Given the description of an element on the screen output the (x, y) to click on. 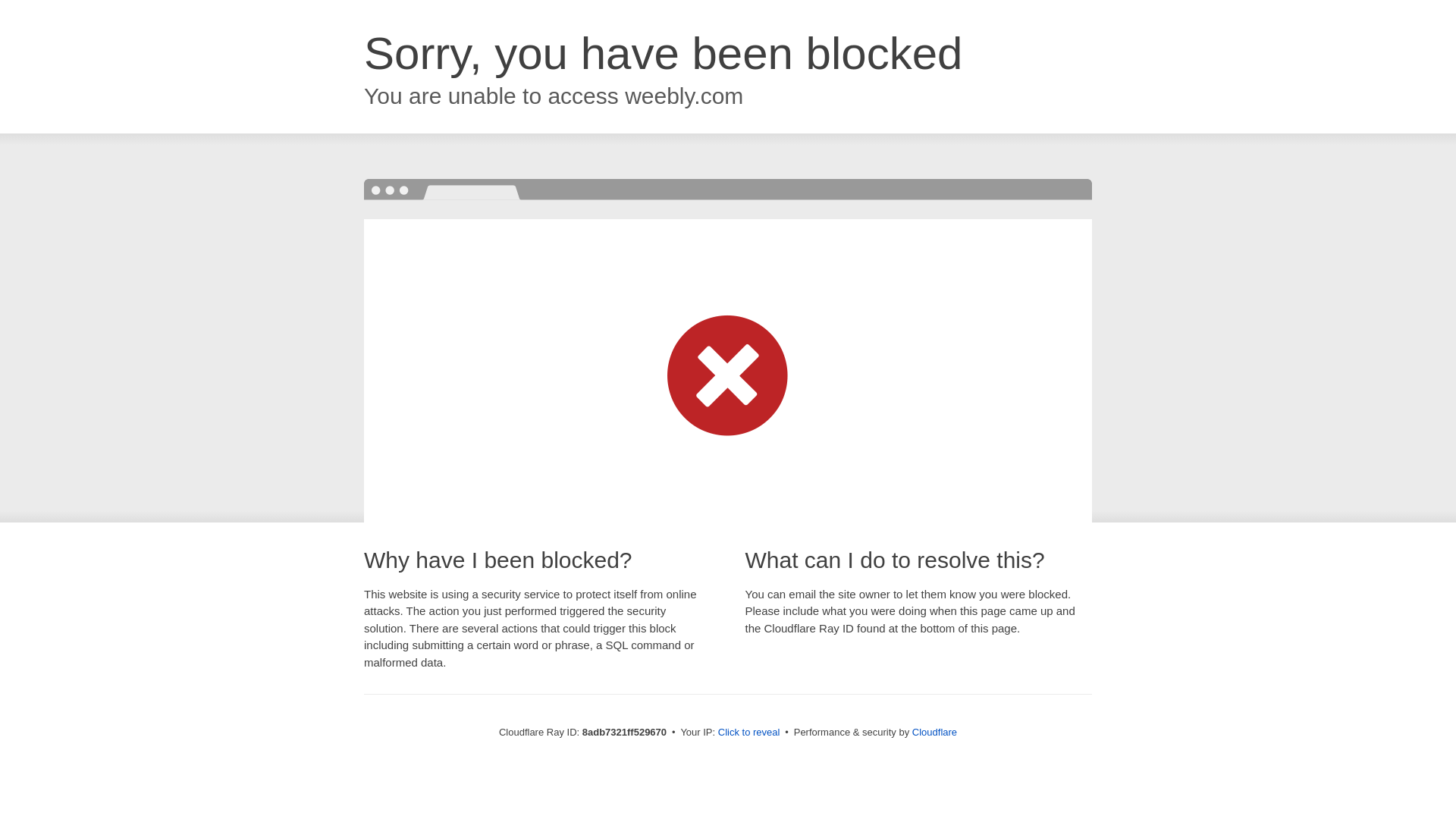
Cloudflare (934, 731)
Click to reveal (748, 732)
